Given the description of an element on the screen output the (x, y) to click on. 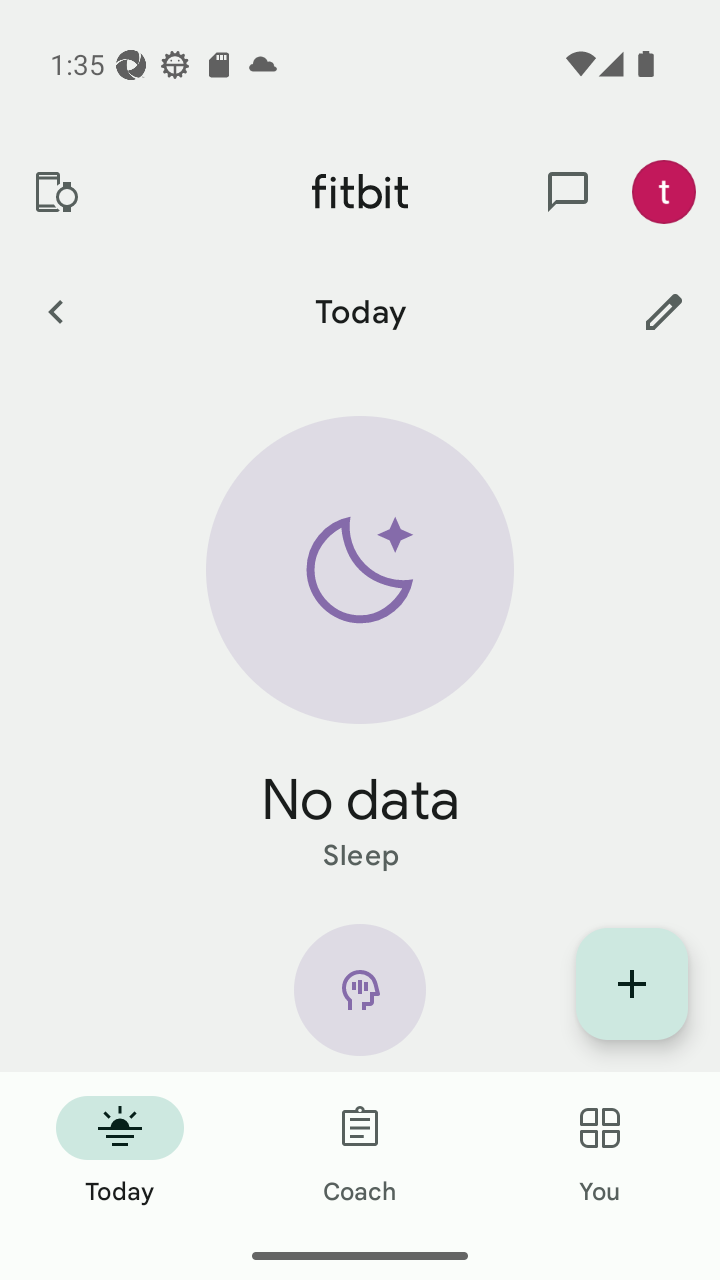
Devices and apps (55, 191)
messages and notifications (567, 191)
Previous Day (55, 311)
Customize (664, 311)
Sleep static hero arc No data Sleep (359, 645)
Mindfulness icon (360, 998)
Display list of quick log entries (632, 983)
Coach (359, 1151)
You (600, 1151)
